Given the description of an element on the screen output the (x, y) to click on. 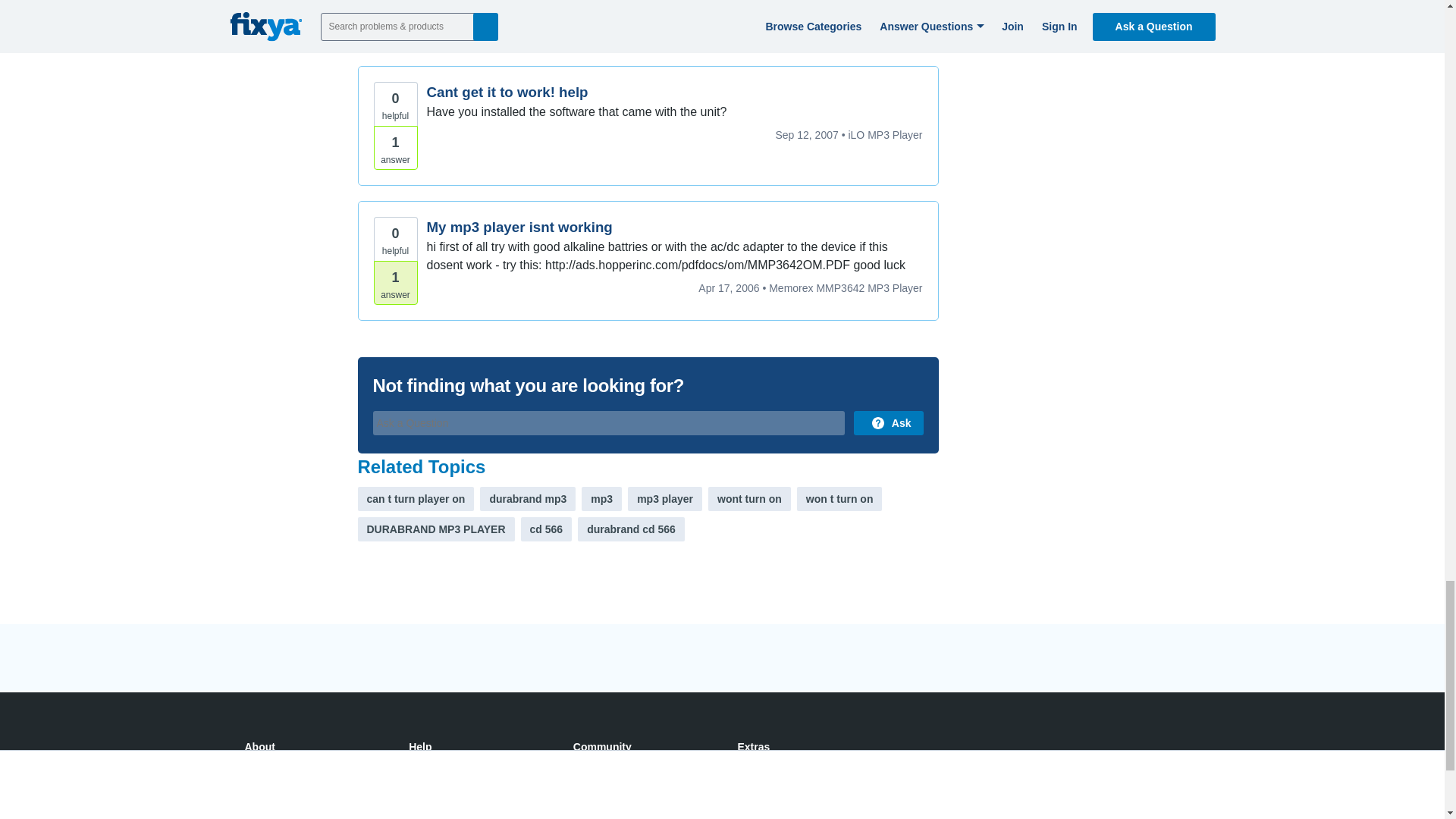
Ask (888, 422)
